Given the description of an element on the screen output the (x, y) to click on. 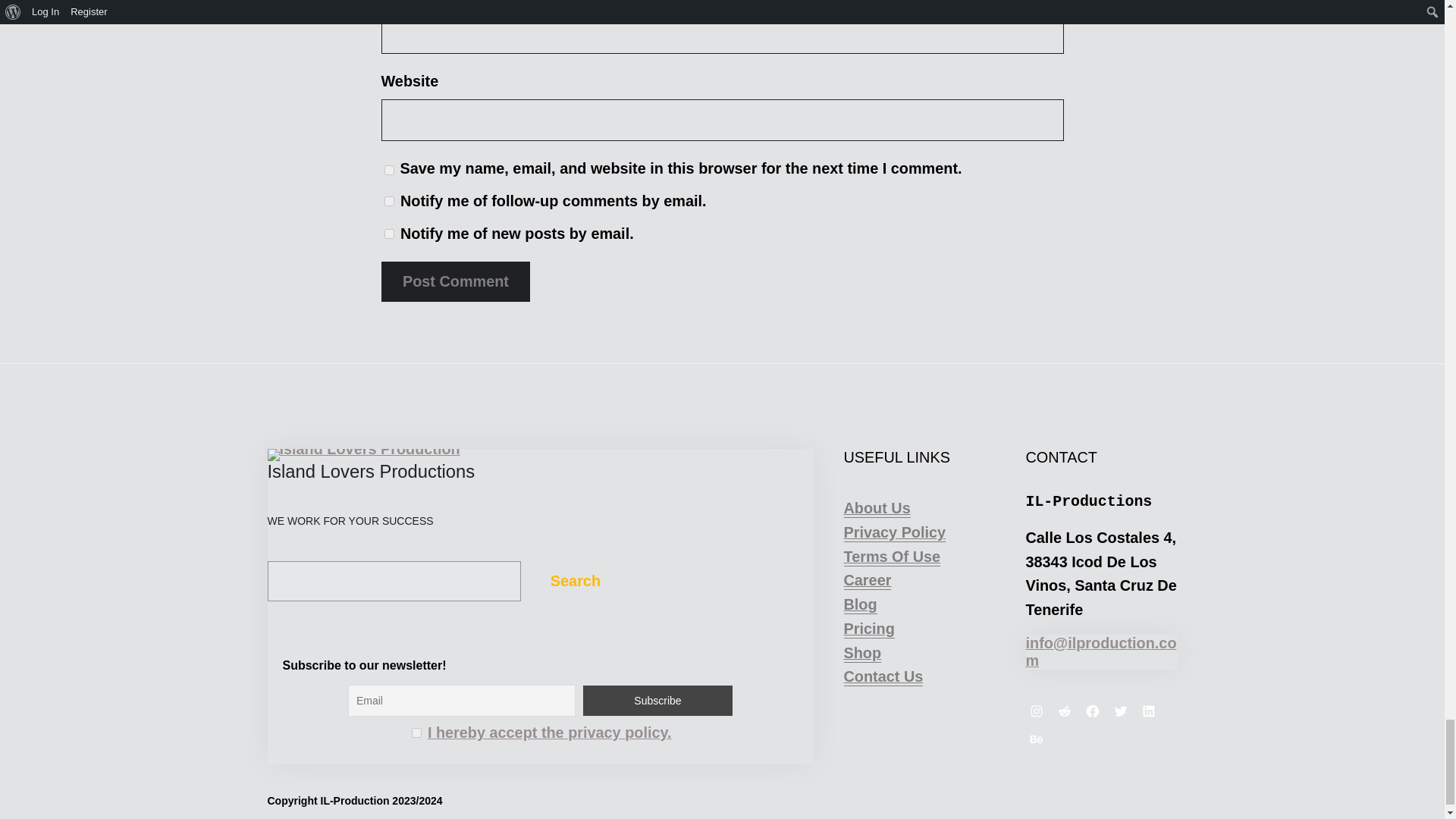
subscribe (388, 234)
subscribe (388, 201)
Post Comment (454, 281)
on (417, 732)
yes (388, 170)
Subscribe (657, 700)
Post Comment (454, 281)
Subscribe (657, 700)
Search (574, 581)
